Given the description of an element on the screen output the (x, y) to click on. 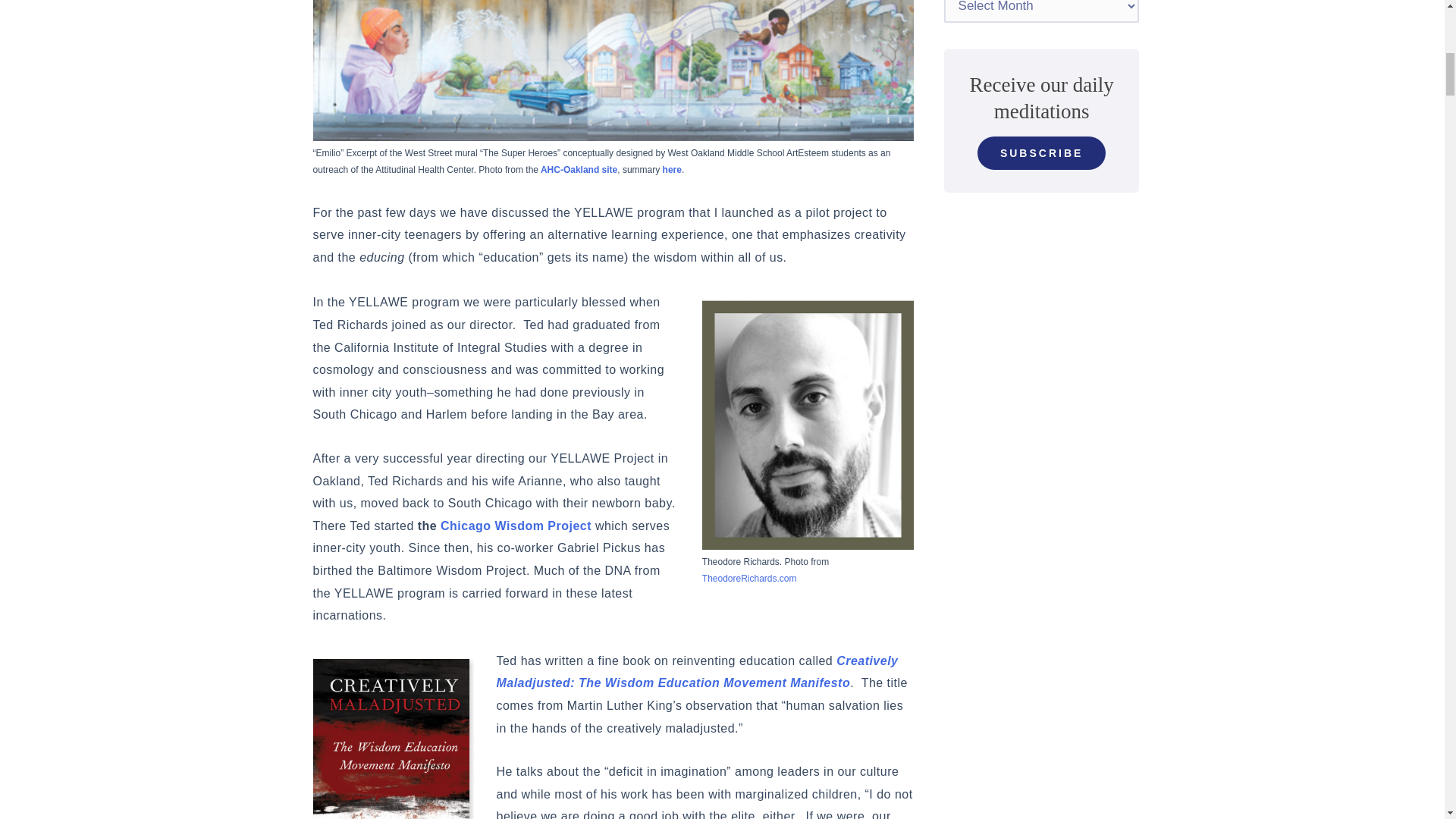
TheodoreRichards.com (748, 578)
SUBSCRIBE (1040, 152)
AHC-Oakland site (578, 169)
here (671, 169)
Chicago Wisdom Project (516, 525)
